Given the description of an element on the screen output the (x, y) to click on. 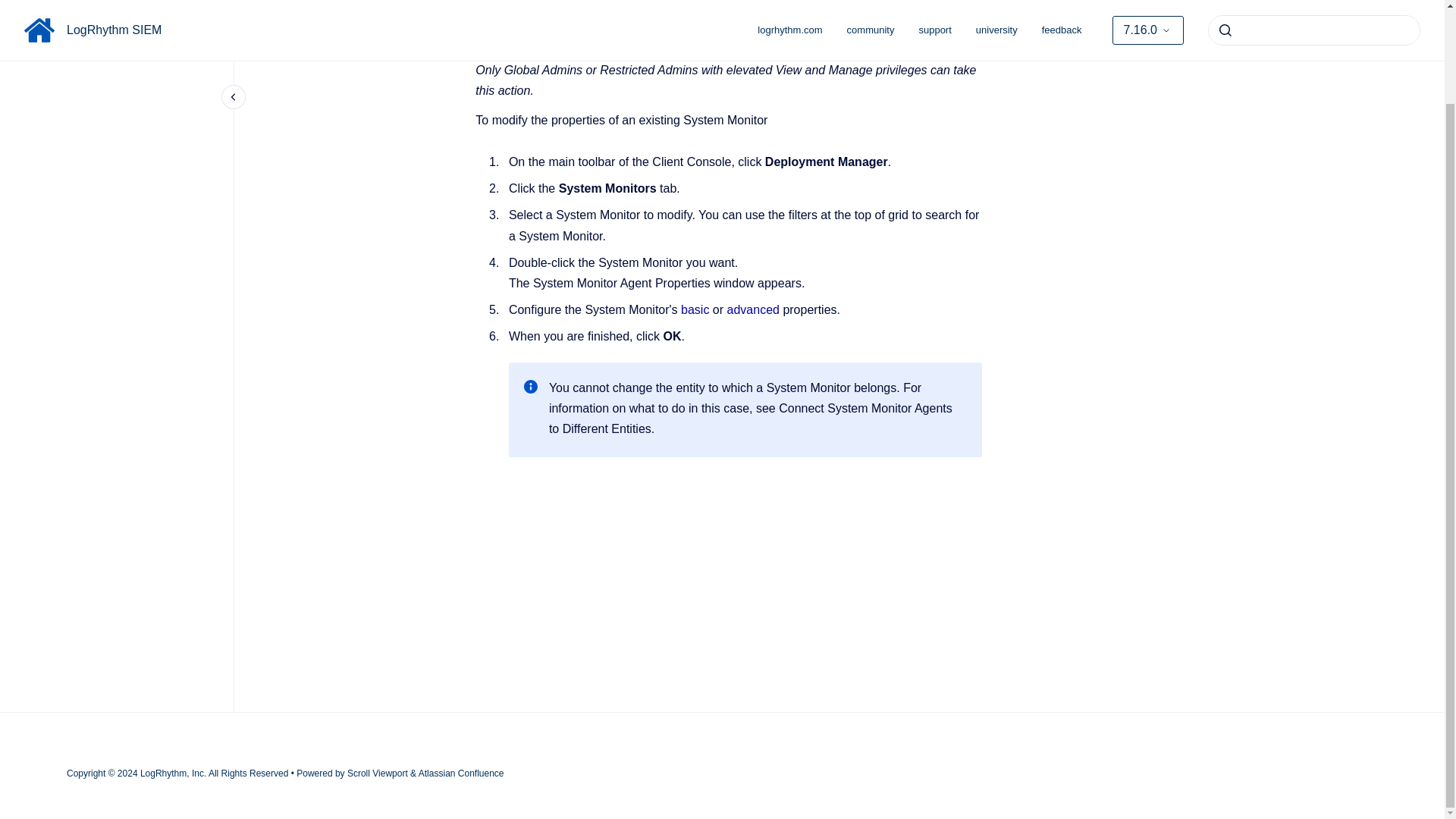
advanced  (754, 309)
Scroll Viewport (378, 773)
Atlassian Confluence (461, 773)
Connect System Monitor Agents to Different Entities (750, 418)
basic  (697, 309)
